Given the description of an element on the screen output the (x, y) to click on. 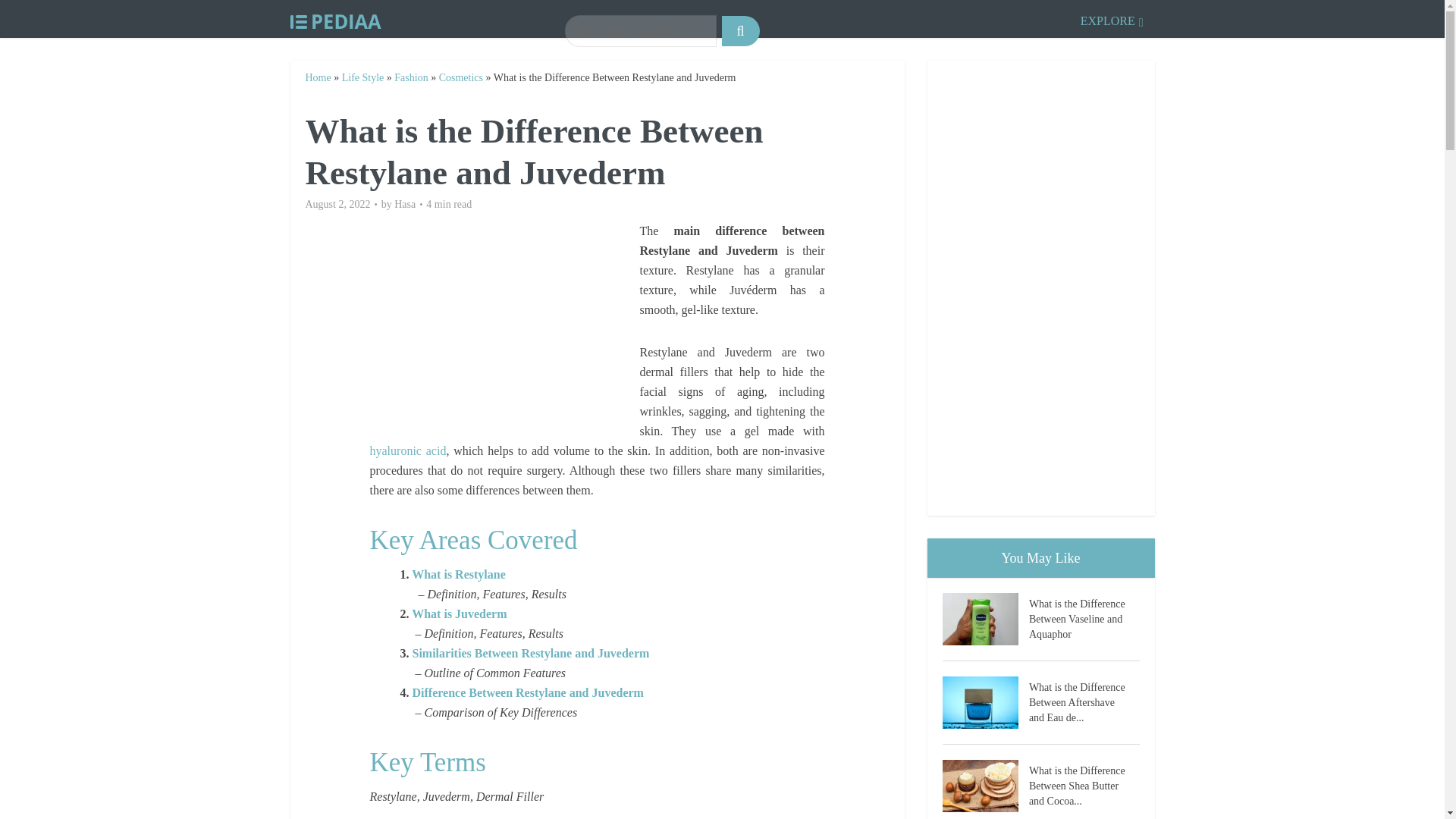
Cosmetics (461, 77)
What is the Difference Between Vaseline and Aquaphor (1084, 617)
EXPLORE (1111, 18)
Type here to search... (640, 30)
Fashion (411, 77)
Life Style (363, 77)
What is Juvederm (459, 613)
Hasa (404, 204)
Advertisement (504, 327)
